Given the description of an element on the screen output the (x, y) to click on. 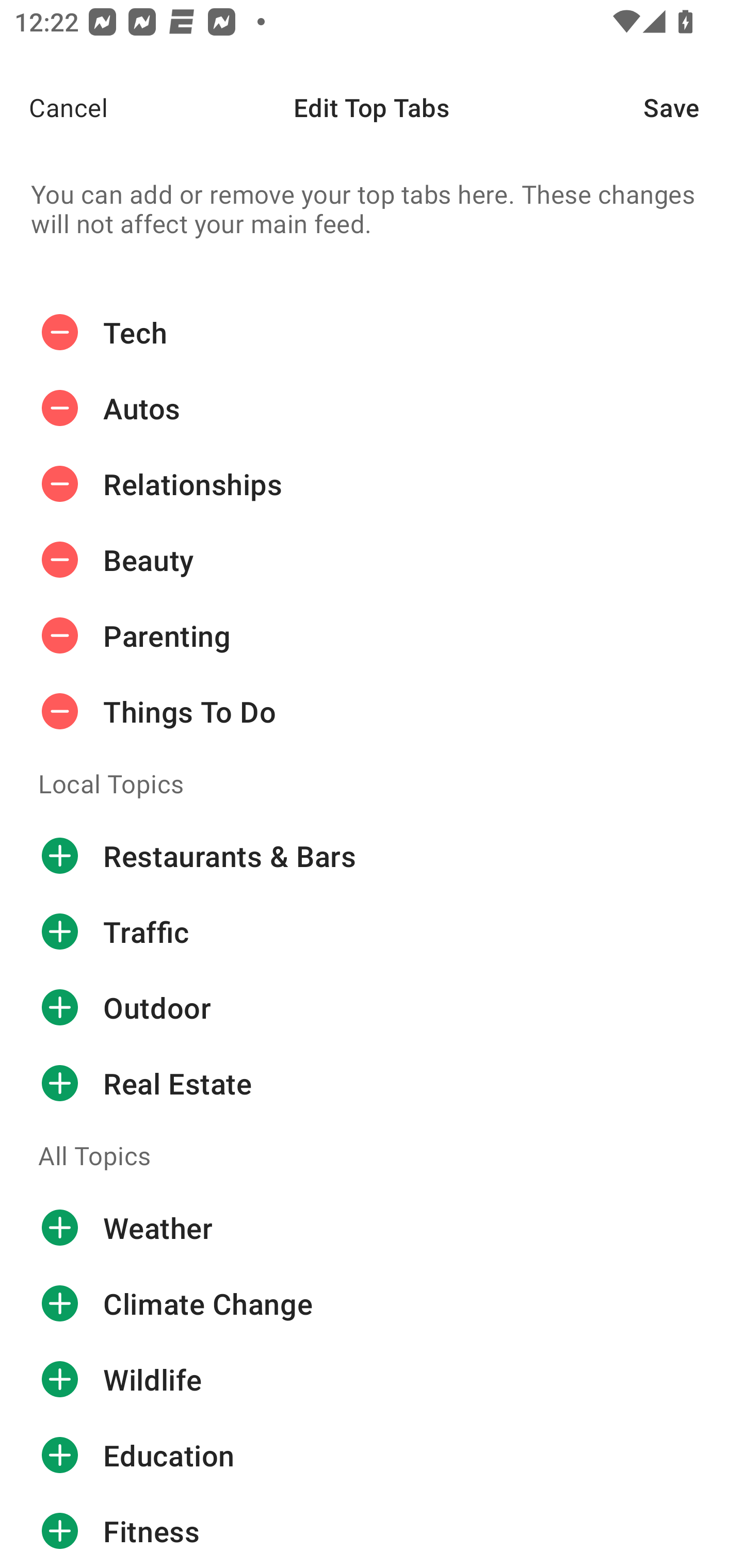
Cancel (53, 106)
Save (693, 106)
Tech (371, 332)
Autos (371, 408)
Relationships (371, 484)
Beauty (371, 559)
Parenting (371, 635)
Things To Do (371, 711)
Restaurants & Bars (371, 855)
Traffic (371, 931)
Outdoor (371, 1007)
Real Estate (371, 1083)
Weather (371, 1227)
Climate Change (371, 1303)
Wildlife (371, 1379)
Education (371, 1454)
Fitness (371, 1530)
